Given the description of an element on the screen output the (x, y) to click on. 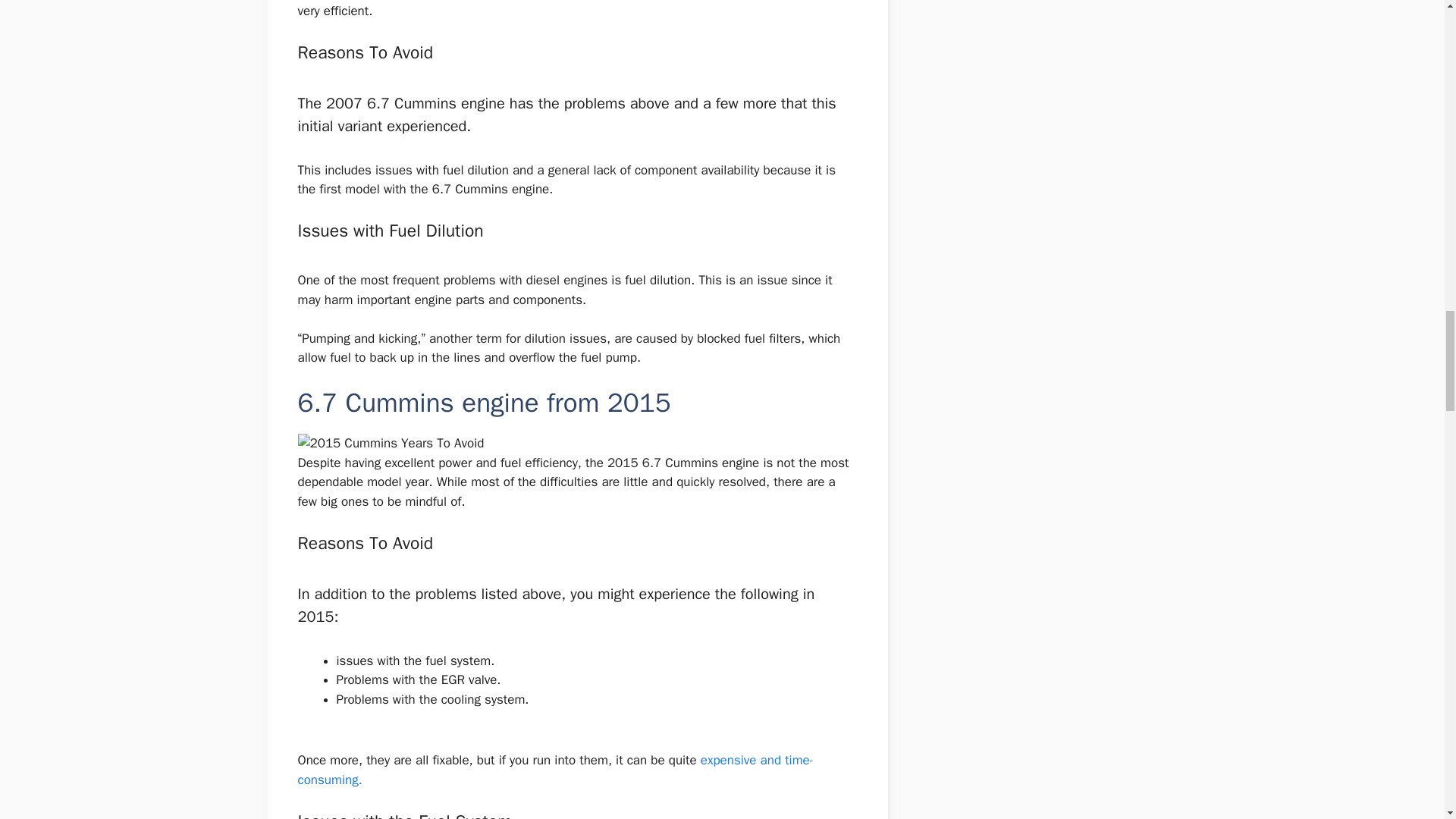
expensive and time-consuming. (554, 769)
